Given the description of an element on the screen output the (x, y) to click on. 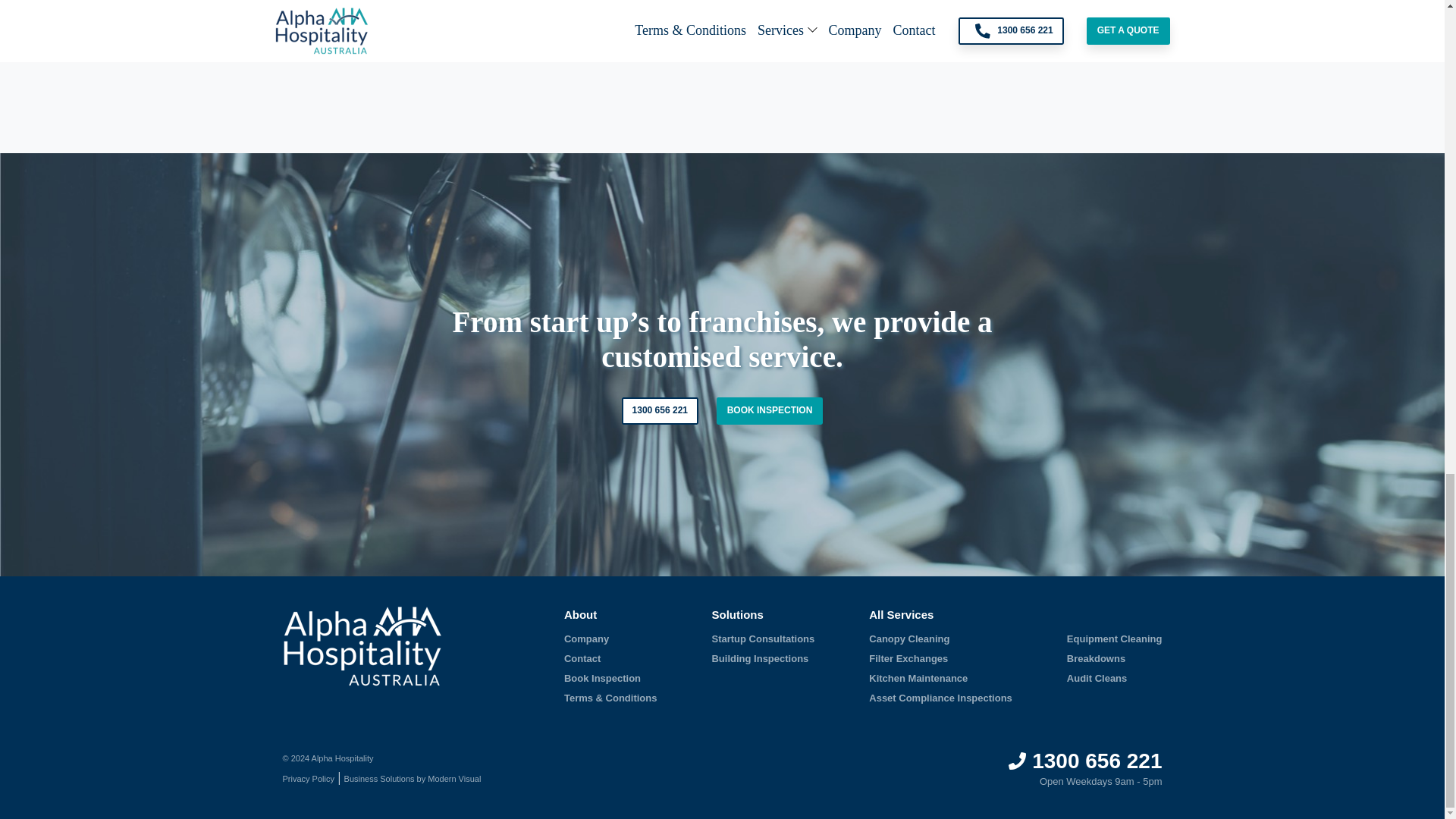
BOOK INSPECTION (770, 411)
Startup Consultations (762, 637)
Asset Compliance Inspections (940, 697)
Breakdowns (1096, 658)
Contact (581, 658)
Learn More (625, 55)
Book Inspection (602, 677)
Learn More (911, 55)
Learn More (338, 55)
Filter Exchanges (908, 658)
Building Inspections (759, 658)
Kitchen Maintenance (918, 677)
Canopy Cleaning (909, 637)
Company (586, 637)
1300 656 221 (659, 411)
